Given the description of an element on the screen output the (x, y) to click on. 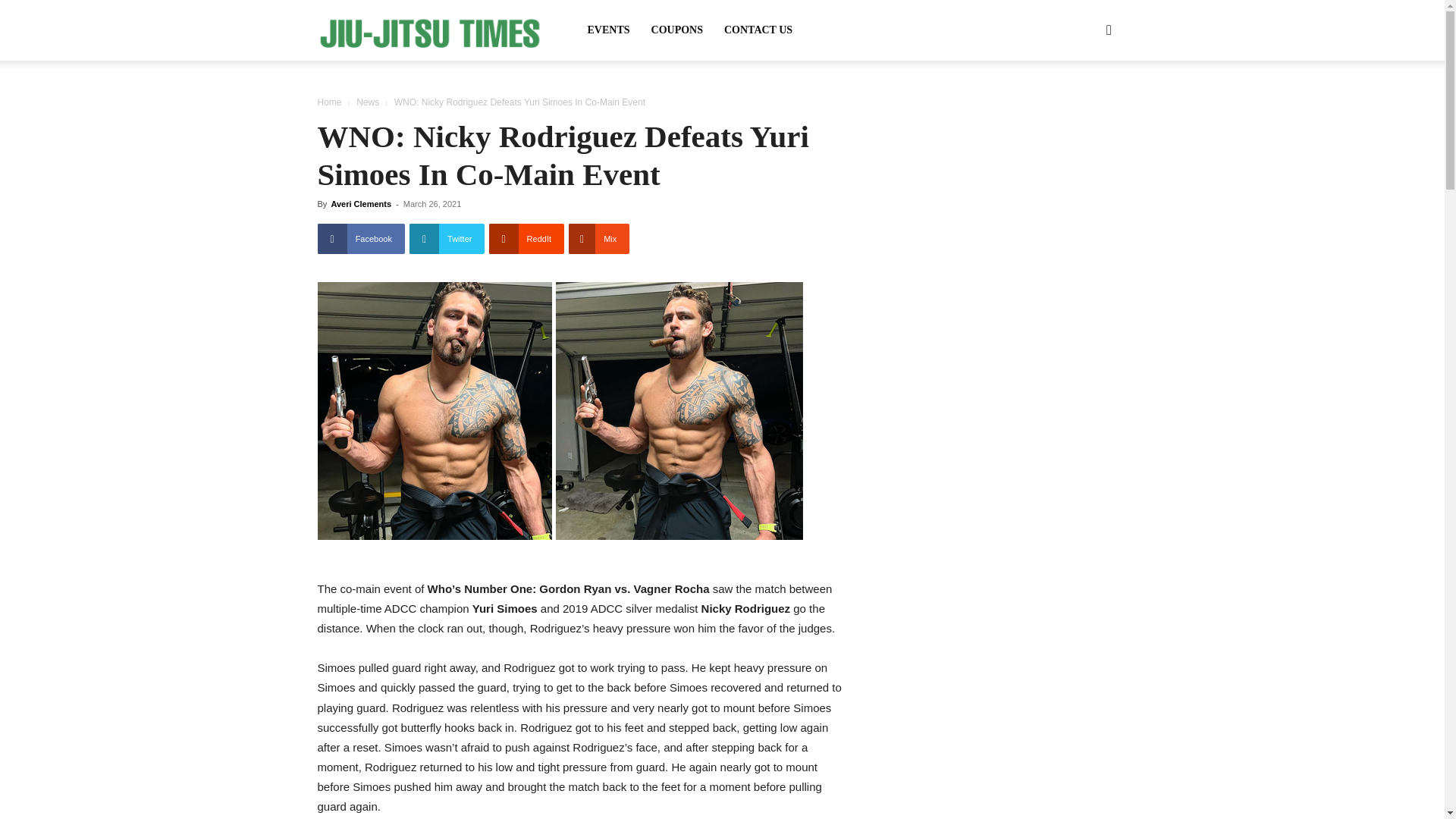
CONTACT US (758, 30)
Jiu-Jitsu Times (430, 30)
EVENTS (608, 30)
Mix (598, 238)
COUPONS (676, 30)
News (367, 102)
Jiu-Jitsu Times (430, 31)
Search (1085, 102)
Home (328, 102)
Facebook (360, 238)
Twitter (446, 238)
View all posts in News (367, 102)
